Given the description of an element on the screen output the (x, y) to click on. 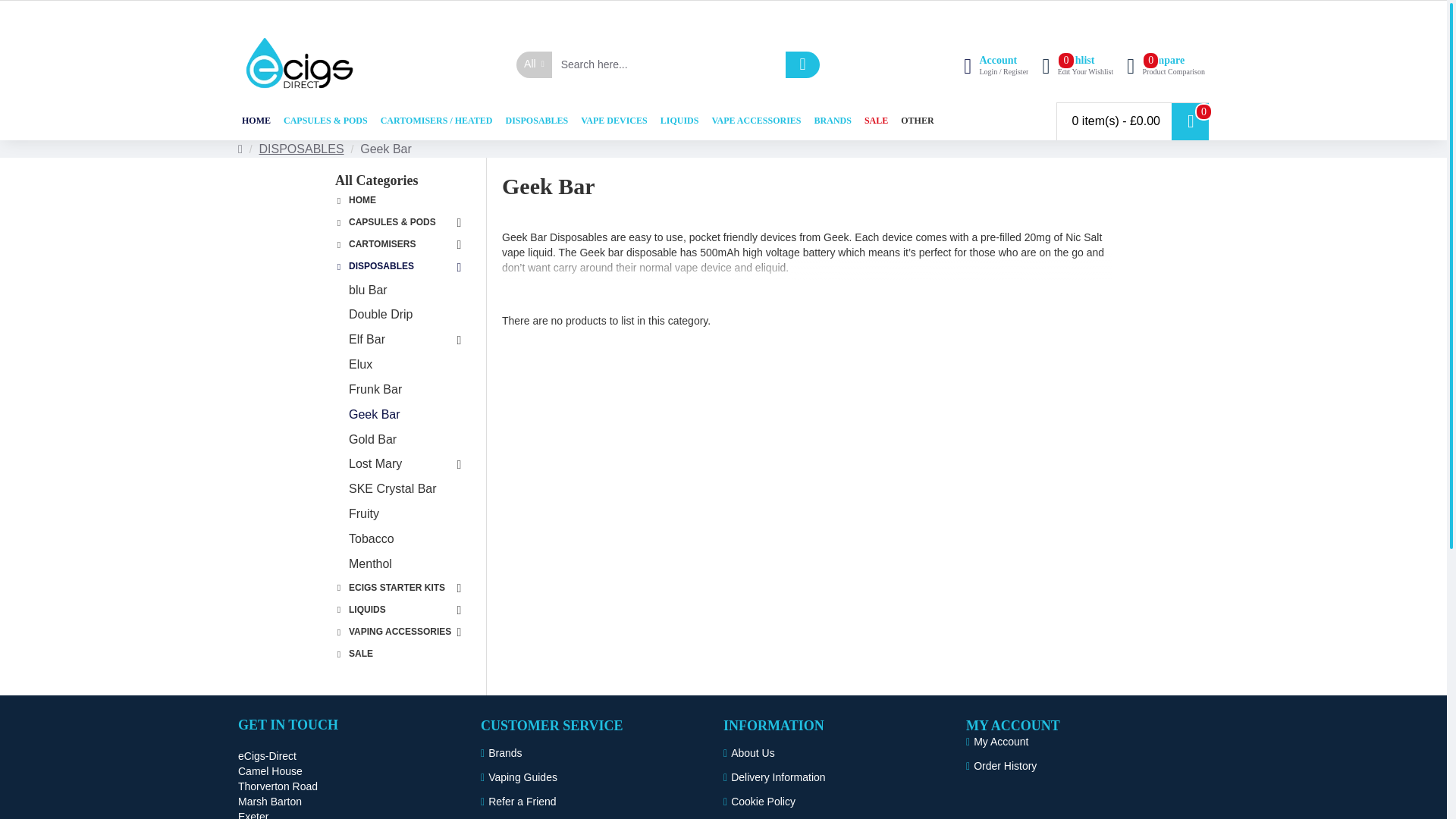
HOME (256, 120)
eCigs-Direct (299, 63)
